Given the description of an element on the screen output the (x, y) to click on. 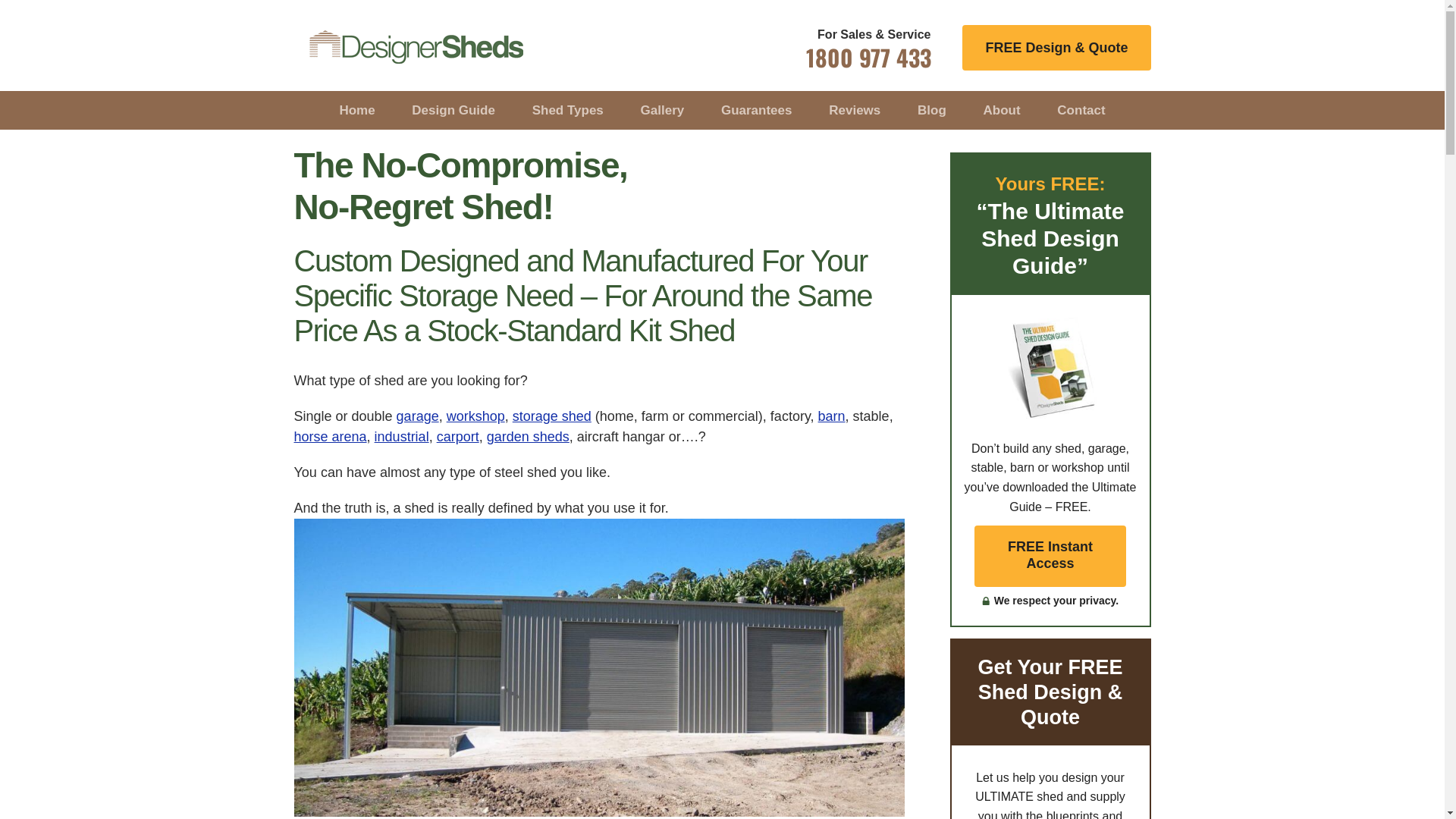
Designer Sheds Element type: text (422, 46)
barn Element type: text (831, 415)
workshop Element type: text (475, 415)
industrial Element type: text (401, 436)
garden sheds Element type: text (527, 436)
Guarantees Element type: text (756, 110)
FREE Instant Access Element type: text (1050, 555)
About Element type: text (1001, 110)
Gallery Element type: text (662, 110)
storage shed Element type: text (551, 415)
Contact Element type: text (1080, 110)
carport Element type: text (457, 436)
FREE Design & Quote Element type: text (1056, 47)
Shed Types Element type: text (567, 110)
horse arena Element type: text (330, 436)
Reviews Element type: text (854, 110)
Home Element type: text (356, 110)
Blog Element type: text (931, 110)
Design Guide Element type: text (453, 110)
garage Element type: text (417, 415)
1800 977 433 Element type: text (867, 62)
